Given the description of an element on the screen output the (x, y) to click on. 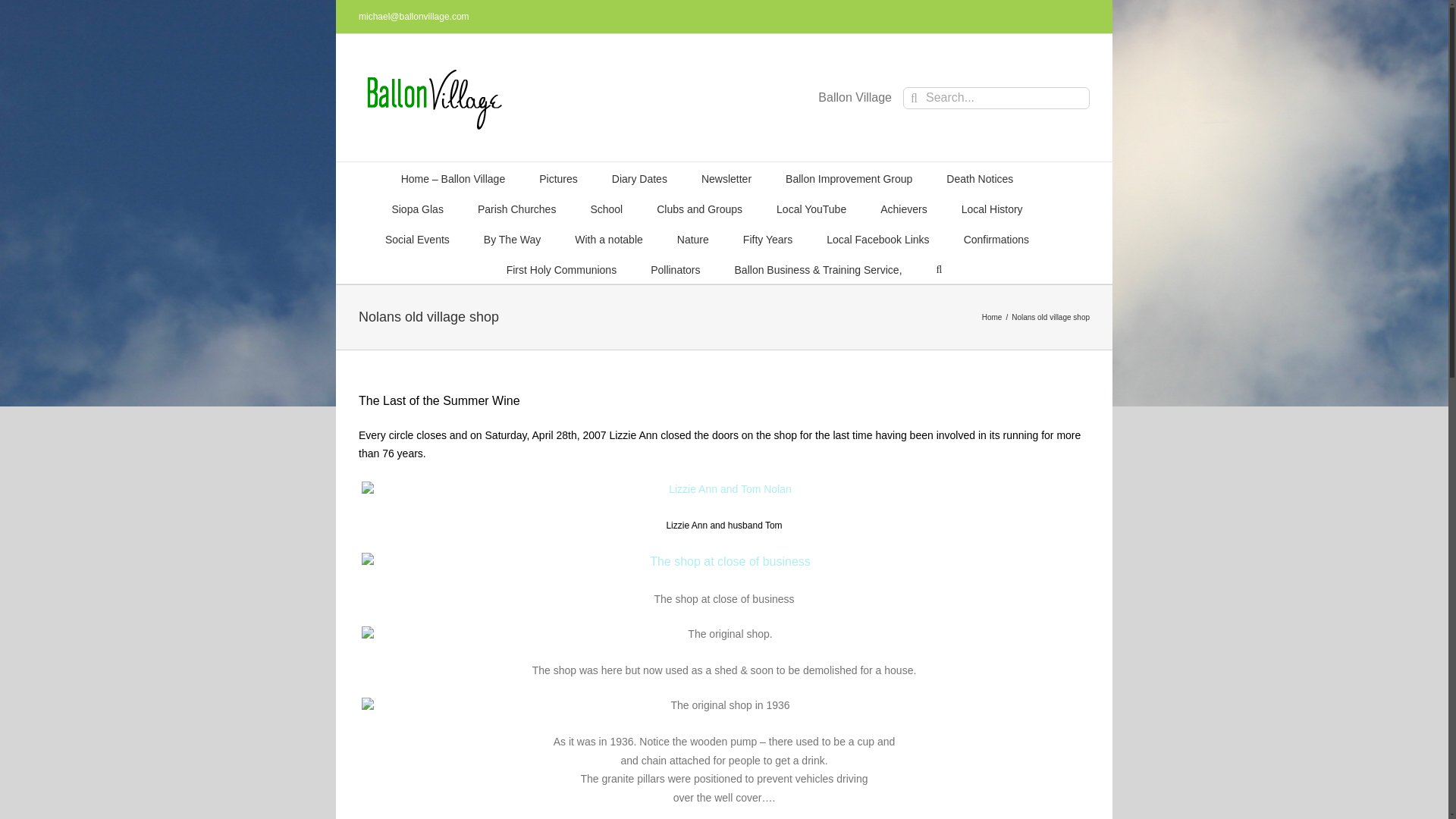
Siopa Glas (416, 207)
Nature (693, 237)
With a notable (609, 237)
First Holy Communions (560, 268)
Social Events (417, 237)
Pollinators (675, 268)
Death Notices (979, 177)
Local Facebook Links (877, 237)
Parish Churches (516, 207)
Fifty Years (767, 237)
Pictures (558, 177)
Clubs and Groups (699, 207)
By The Way (511, 237)
Diary Dates (638, 177)
Ballon Improvement Group (849, 177)
